Given the description of an element on the screen output the (x, y) to click on. 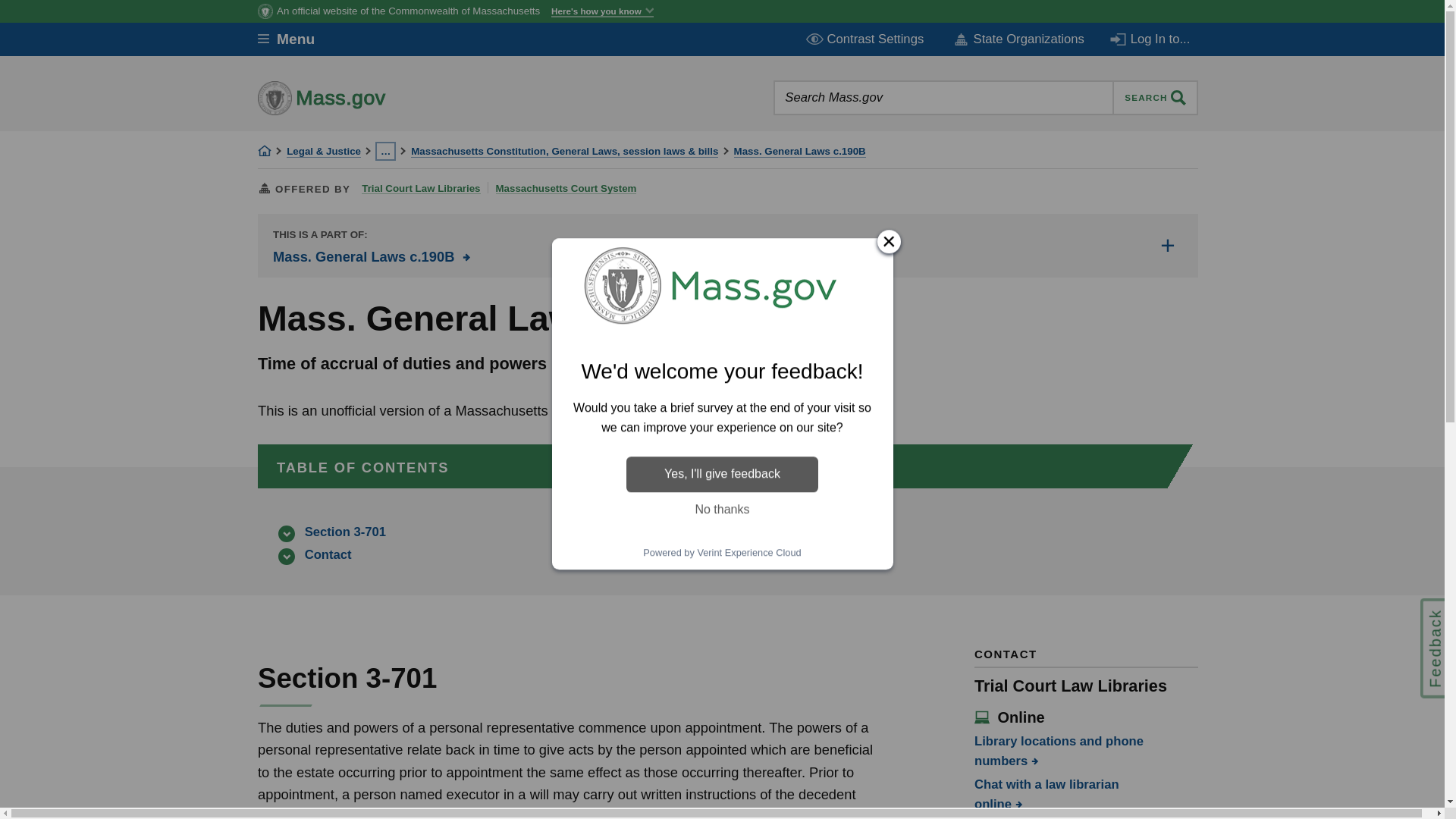
Contrast Settings (866, 38)
Menu (297, 39)
State Organizations (1018, 39)
Log In to... (1151, 38)
Mass.gov home page (369, 97)
